Given the description of an element on the screen output the (x, y) to click on. 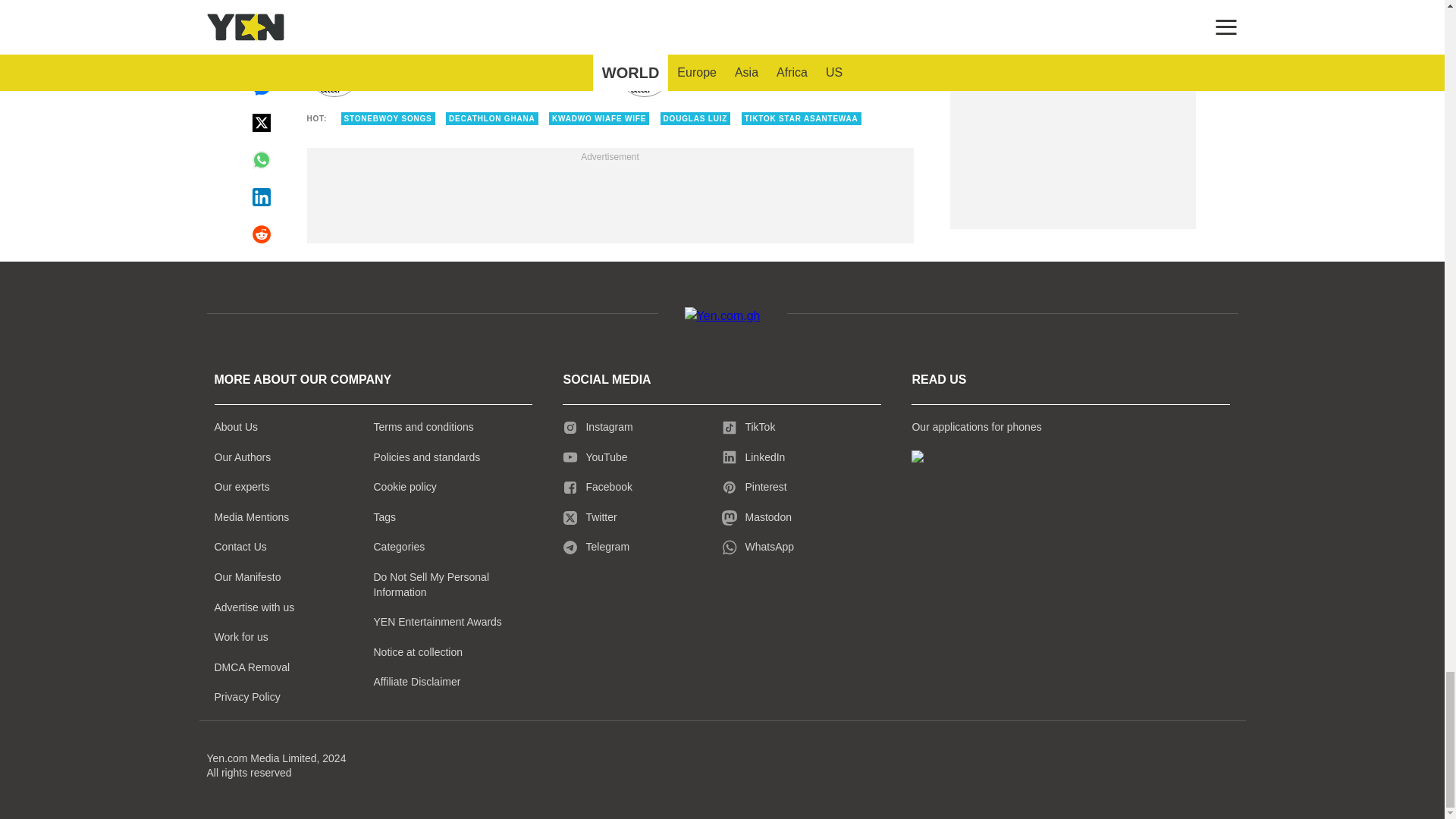
Author page (765, 69)
Author page (453, 69)
